Given the description of an element on the screen output the (x, y) to click on. 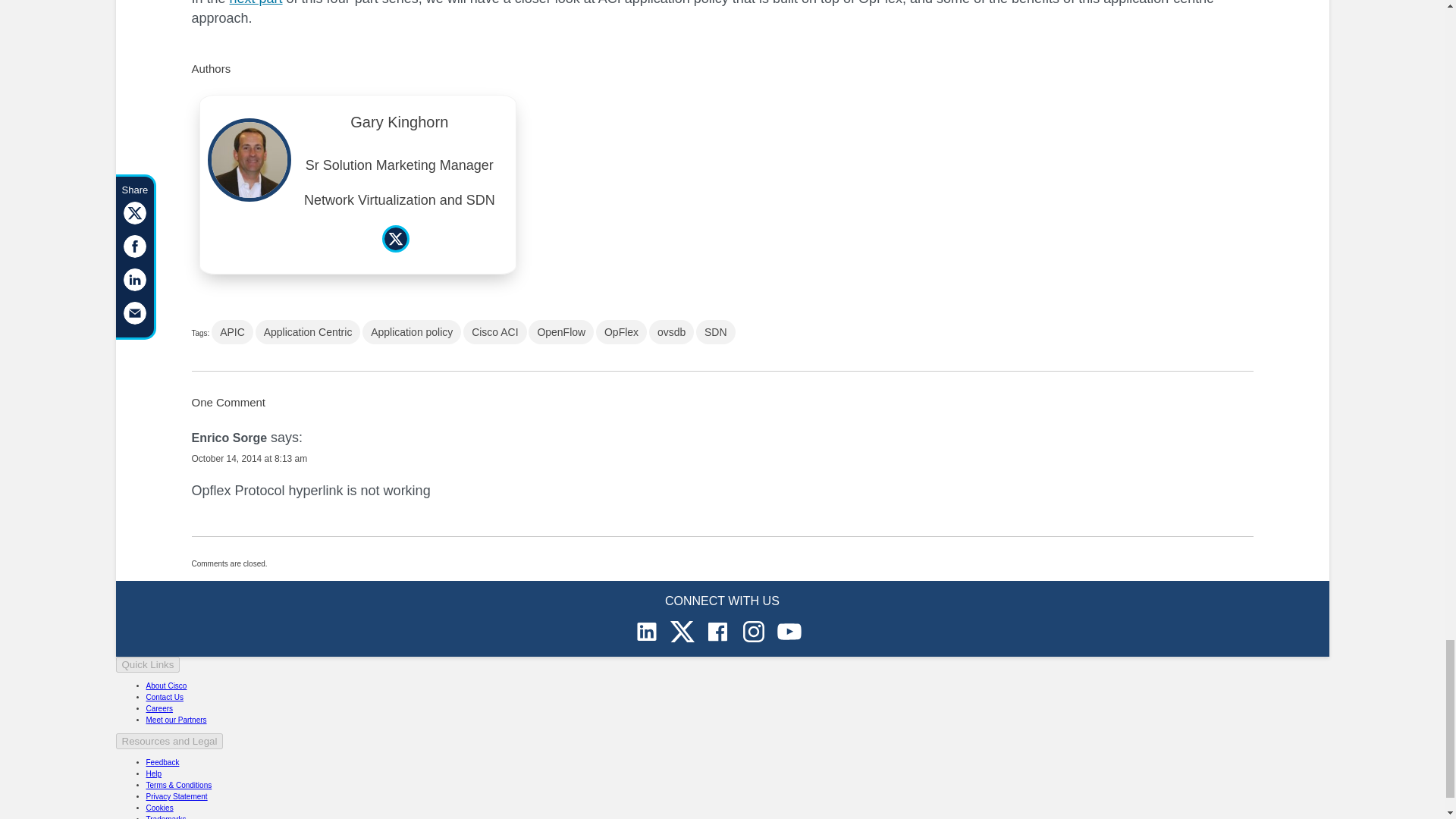
ACI Policy Language - Part 3 (256, 2)
next part (256, 2)
Application policy (411, 331)
APIC (232, 331)
Cisco ACI (494, 331)
Application Centric (308, 331)
Gary Kinghorn (399, 125)
OpenFlow (561, 331)
